Given the description of an element on the screen output the (x, y) to click on. 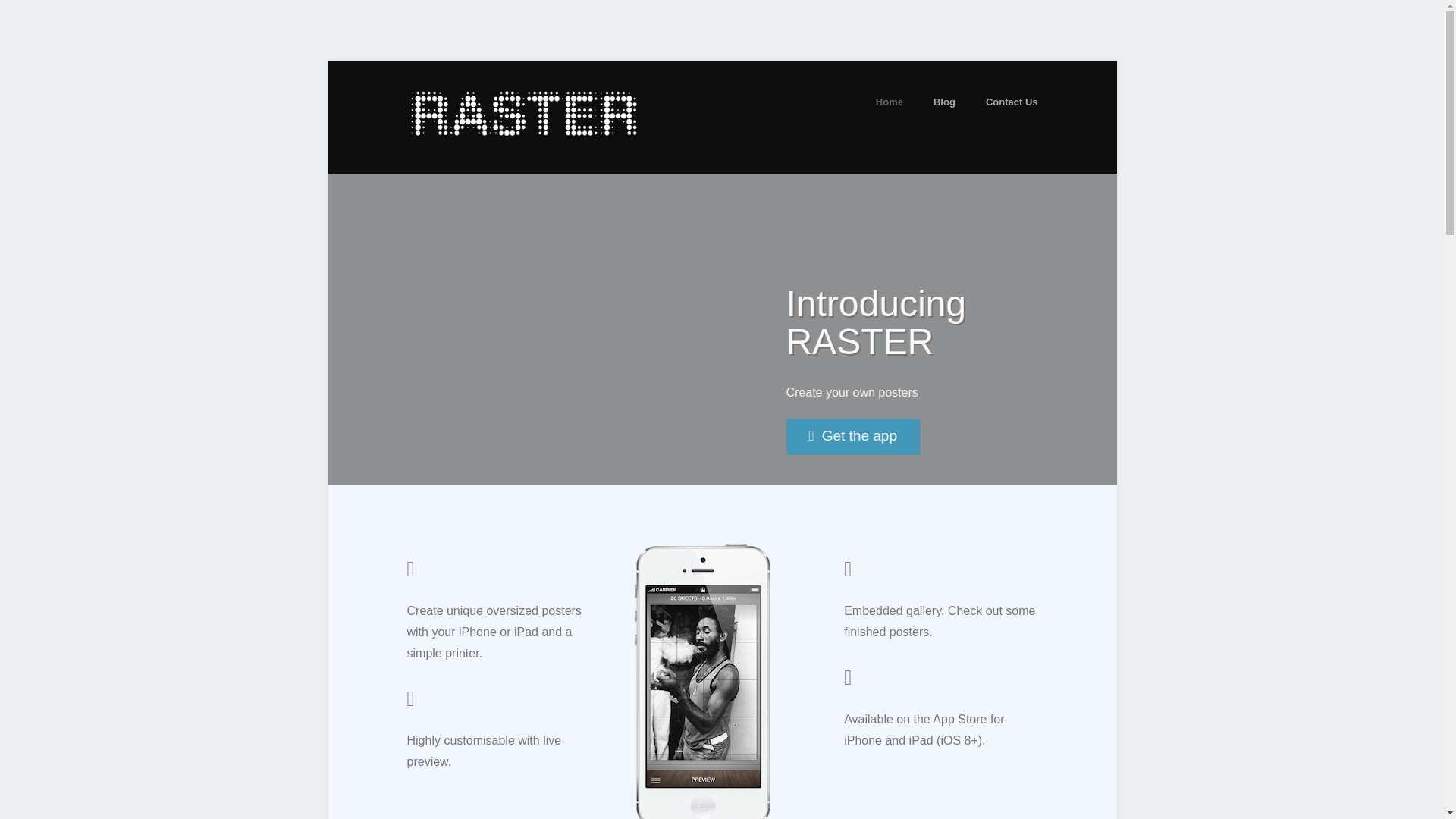
Blog (936, 102)
Contact Us (1004, 102)
Home (881, 102)
